Given the description of an element on the screen output the (x, y) to click on. 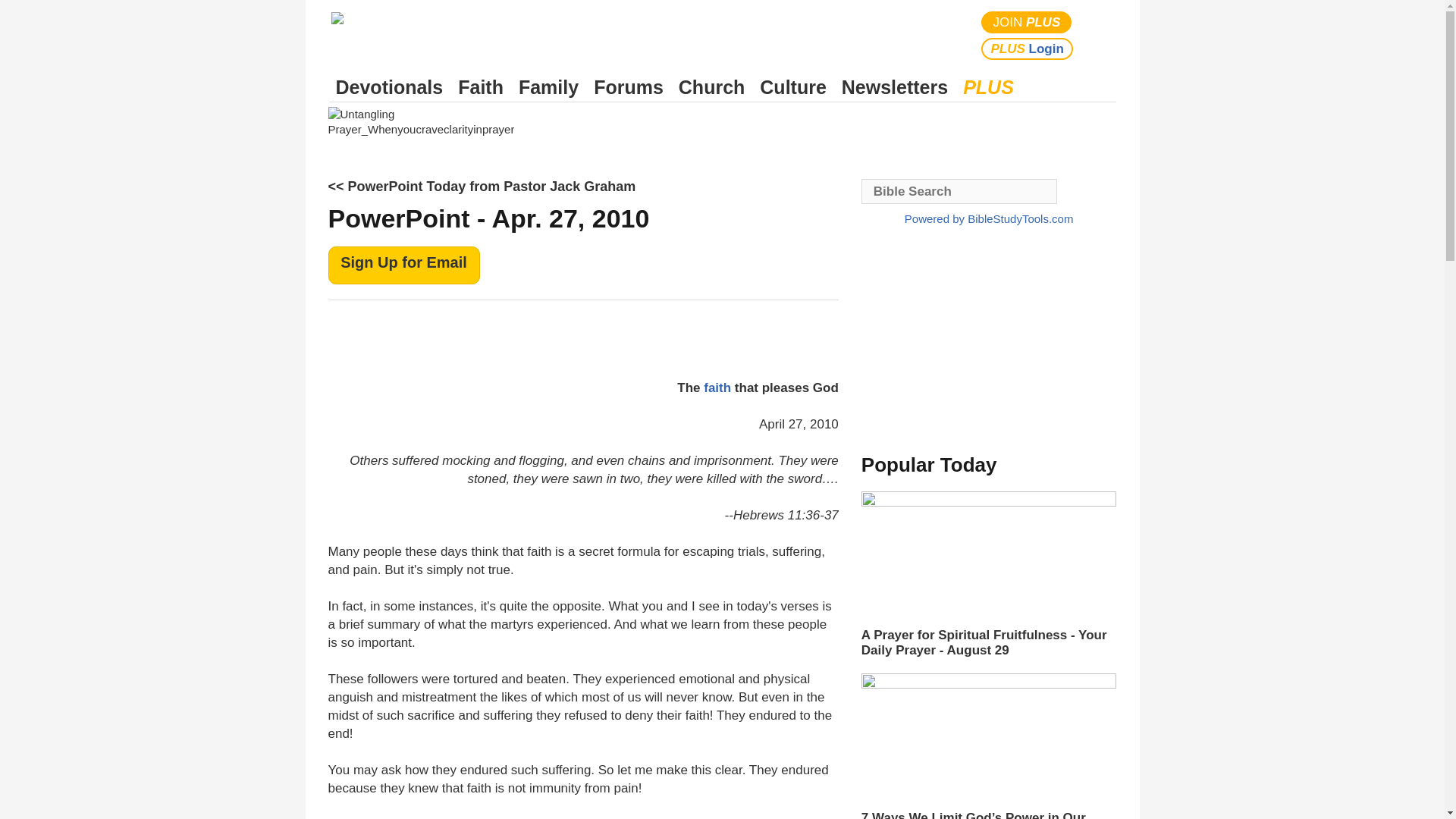
PLUS Login (1026, 48)
Search (1101, 34)
JOIN PLUS (1026, 22)
Plus Login (1026, 48)
Devotionals (389, 87)
Faith (481, 87)
Join Plus (1026, 22)
Family (548, 87)
